Given the description of an element on the screen output the (x, y) to click on. 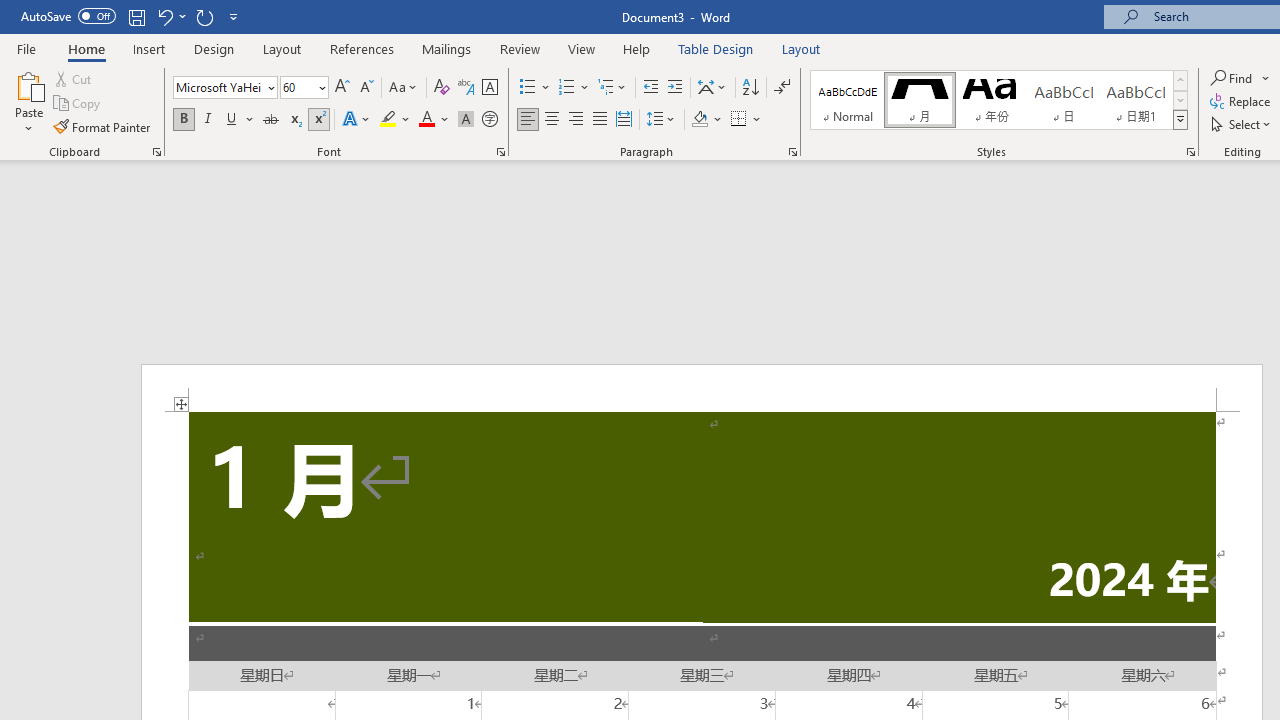
Font Size (297, 87)
Underline (239, 119)
Open (320, 87)
Increase Indent (675, 87)
Align Left (527, 119)
Numbering (566, 87)
Table Design (715, 48)
Multilevel List (613, 87)
Save (136, 15)
Text Highlight Color (395, 119)
File Tab (26, 48)
Cut (73, 78)
Phonetic Guide... (465, 87)
Row up (1179, 79)
